Given the description of an element on the screen output the (x, y) to click on. 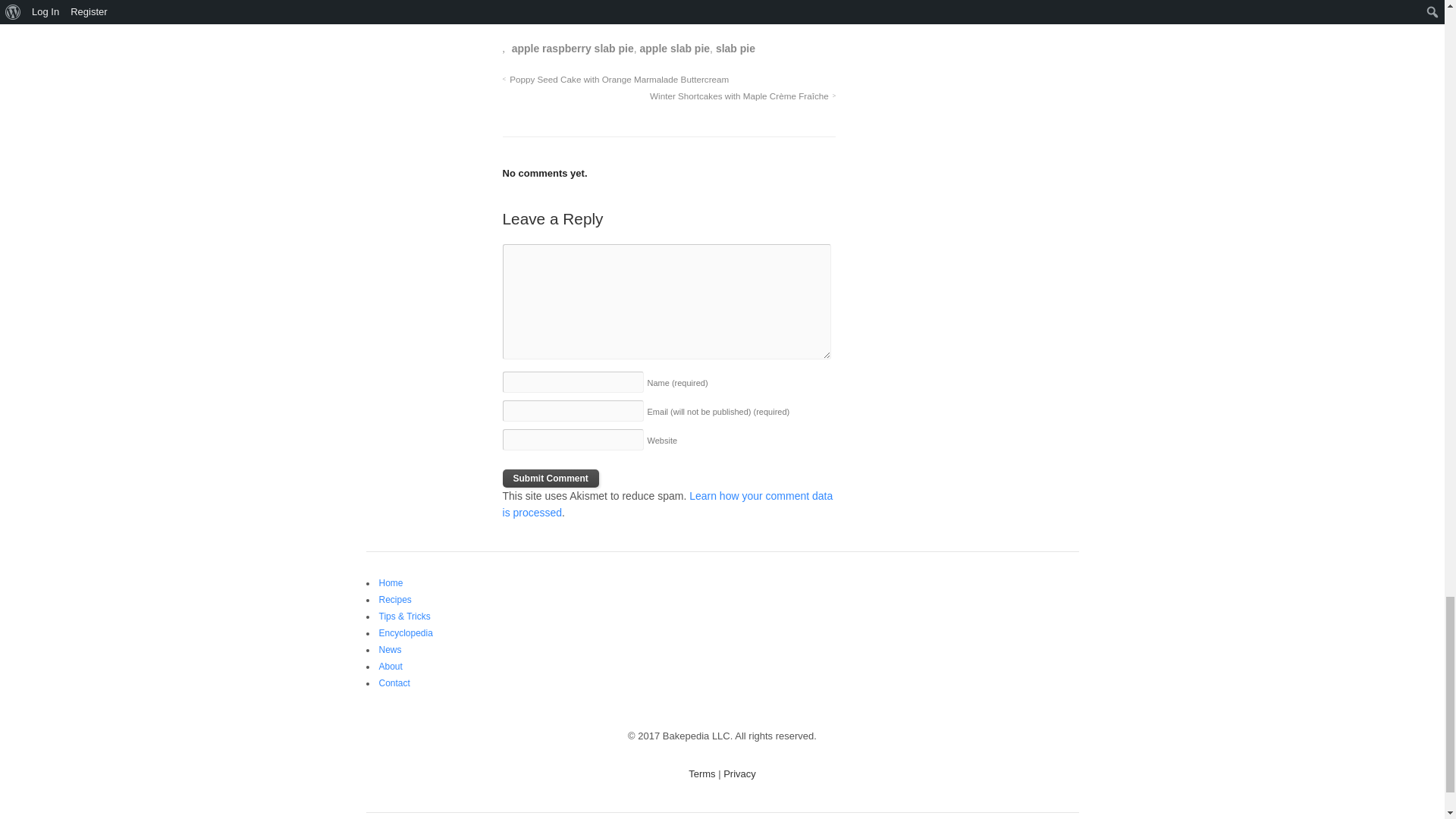
slab pie (735, 48)
Poppy Seed Cake with Orange Marmalade Buttercream (615, 79)
Submit Comment (550, 478)
apple raspberry slab pie (572, 48)
Learn how your comment data is processed (667, 503)
Submit Comment (550, 478)
apple slab pie (675, 48)
